Given the description of an element on the screen output the (x, y) to click on. 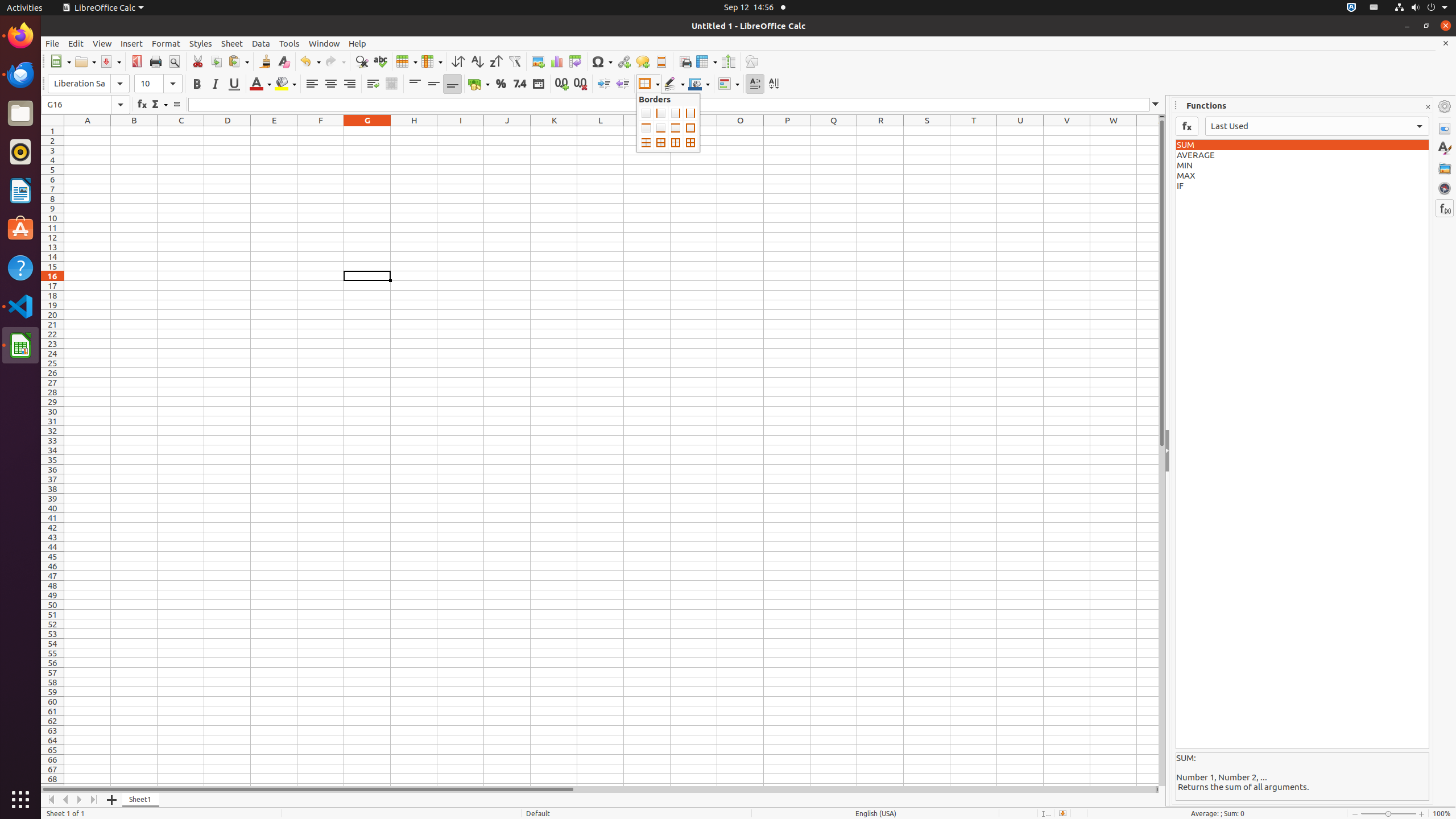
Align Center Element type: push-button (330, 83)
SUM Element type: list-item (1302, 144)
H1 Element type: table-cell (413, 130)
Find & Replace Element type: toggle-button (361, 61)
Thunderbird Mail Element type: push-button (20, 74)
